Given the description of an element on the screen output the (x, y) to click on. 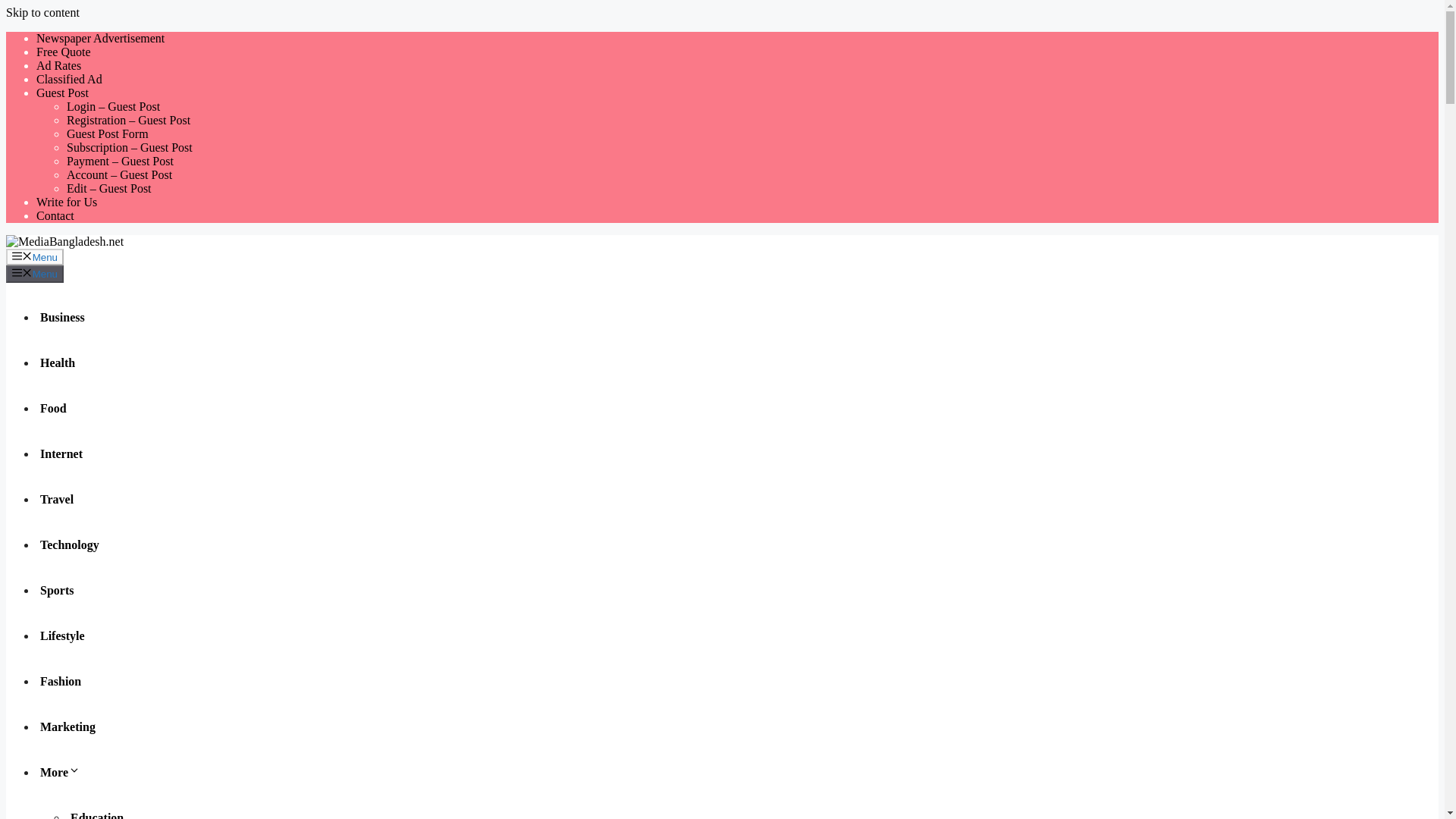
Education (98, 815)
Contact (55, 215)
Newspaper Advertisement (100, 38)
Menu (34, 273)
Health (59, 362)
Food (55, 408)
Ad Rates (58, 65)
Classified Ad (68, 78)
More (61, 771)
Menu (34, 256)
Skip to content (42, 11)
Business (64, 317)
Technology (71, 544)
Lifestyle (64, 635)
Guest Post Form (107, 133)
